Given the description of an element on the screen output the (x, y) to click on. 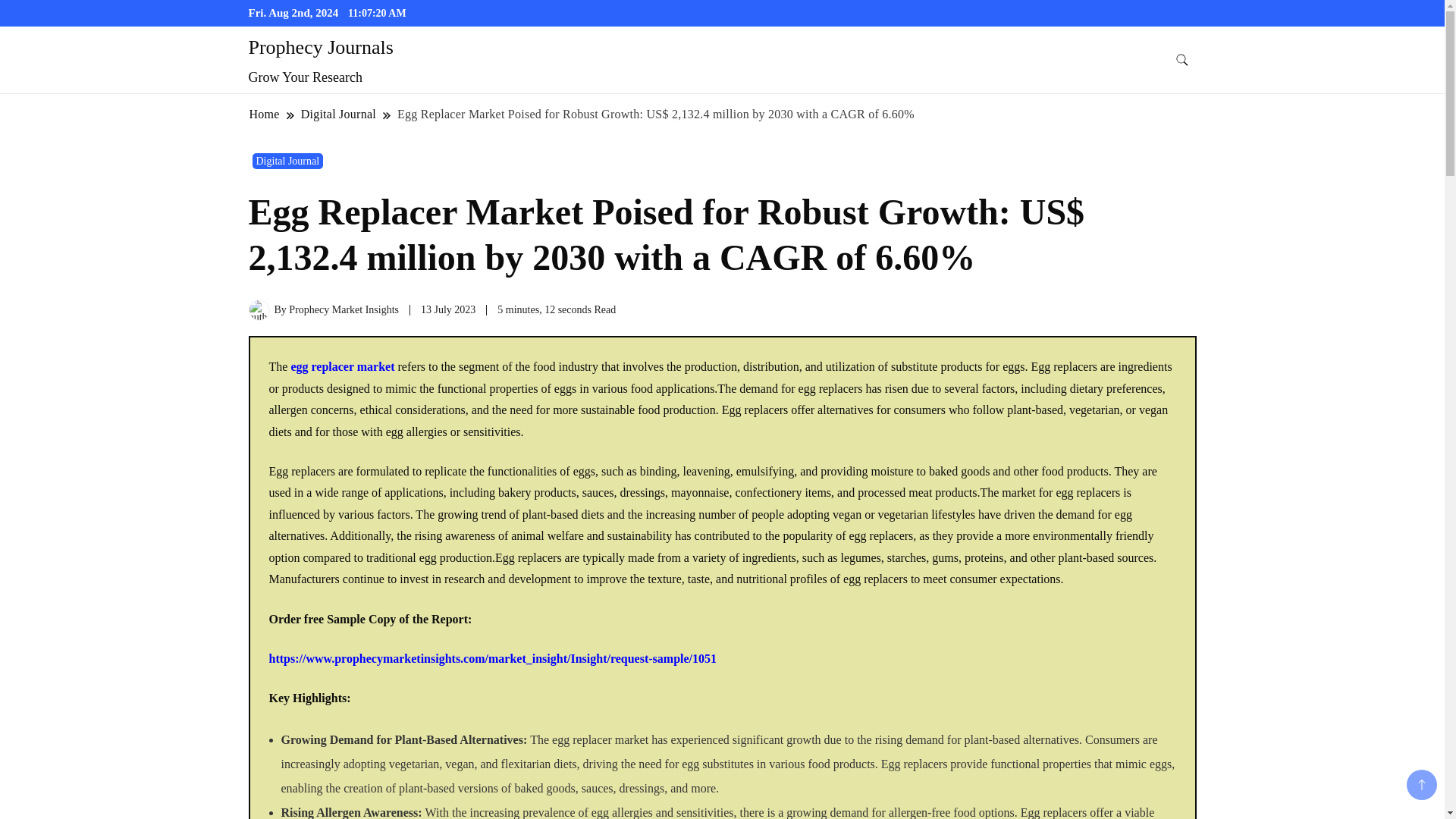
Prophecy Journals (320, 47)
Home (264, 114)
egg replacer market (341, 366)
Digital Journal (338, 114)
Digital Journal (287, 160)
13 July 2023 (448, 309)
Prophecy Market Insights (343, 309)
